Given the description of an element on the screen output the (x, y) to click on. 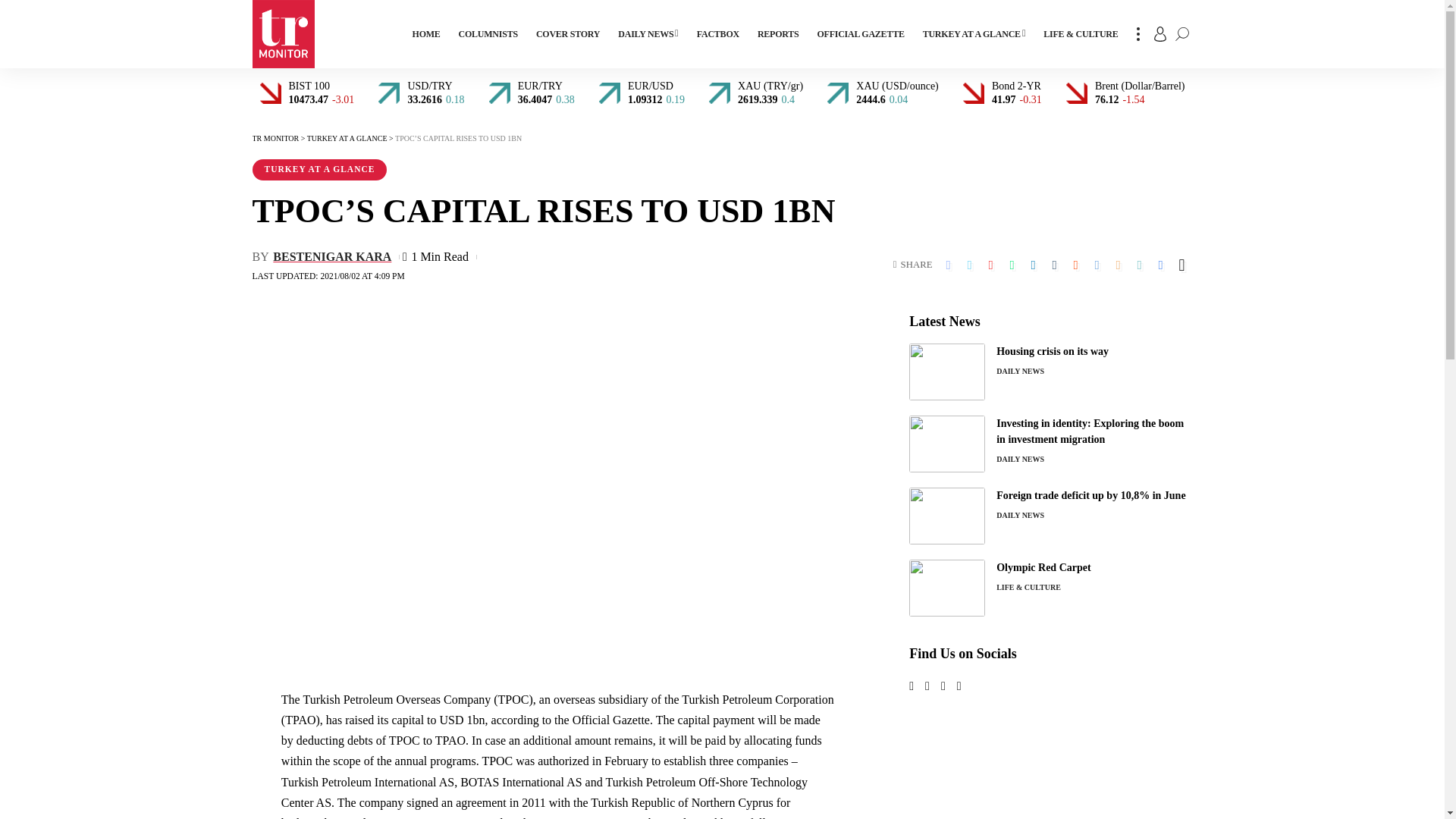
Olympic Red Carpet (946, 587)
TURKEY AT A GLANCE (974, 33)
COLUMNISTS (488, 33)
Go to TR MONITOR. (274, 138)
TR MONITOR (282, 33)
Go to the Turkey at a Glance Category archives. (347, 138)
OFFICIAL GAZETTE (860, 33)
Housing crisis on its way (946, 371)
DAILY NEWS (647, 33)
COVER STORY (567, 33)
